Given the description of an element on the screen output the (x, y) to click on. 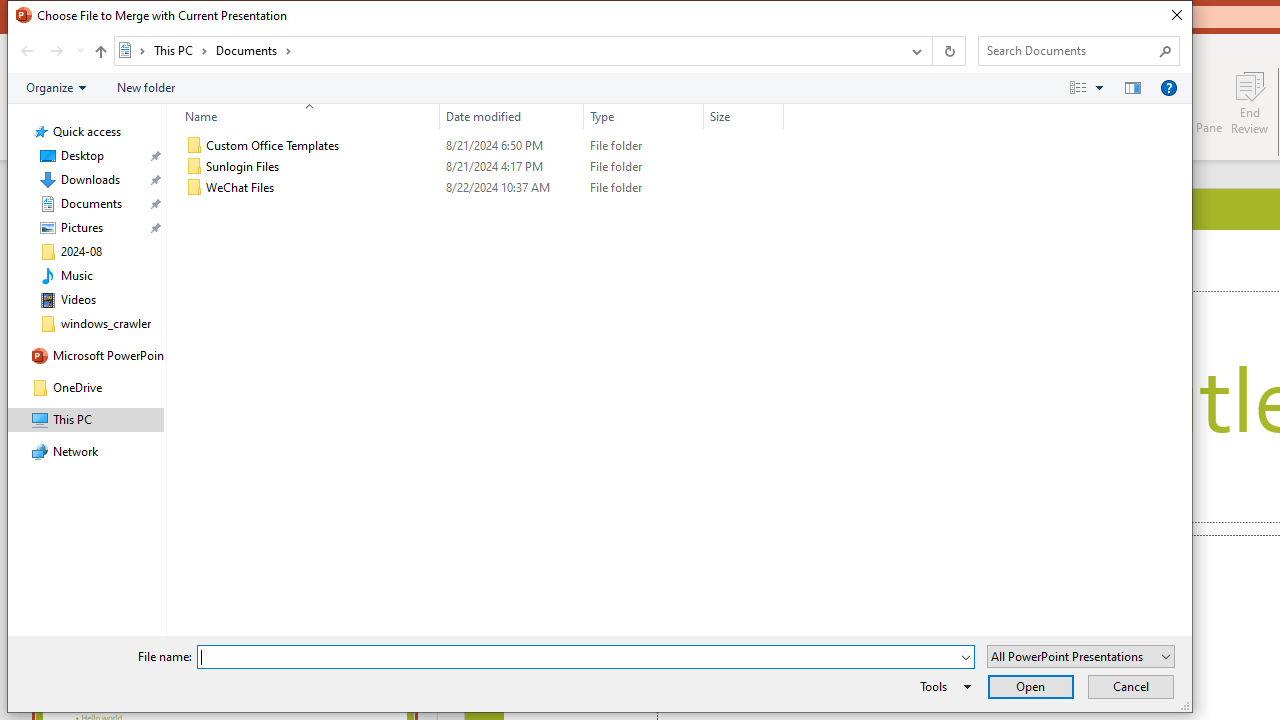
&Help (1168, 87)
Forward (Alt + Right Arrow) (56, 51)
New folder (145, 87)
Command Module (599, 87)
Size (743, 115)
Refresh "Documents" (F5) (948, 51)
Back (Alt + Left Arrow) (26, 51)
Search (1165, 50)
All locations (132, 50)
File name: (577, 657)
Open (1030, 686)
Files of type: (1080, 656)
Cancel (1130, 686)
